Given the description of an element on the screen output the (x, y) to click on. 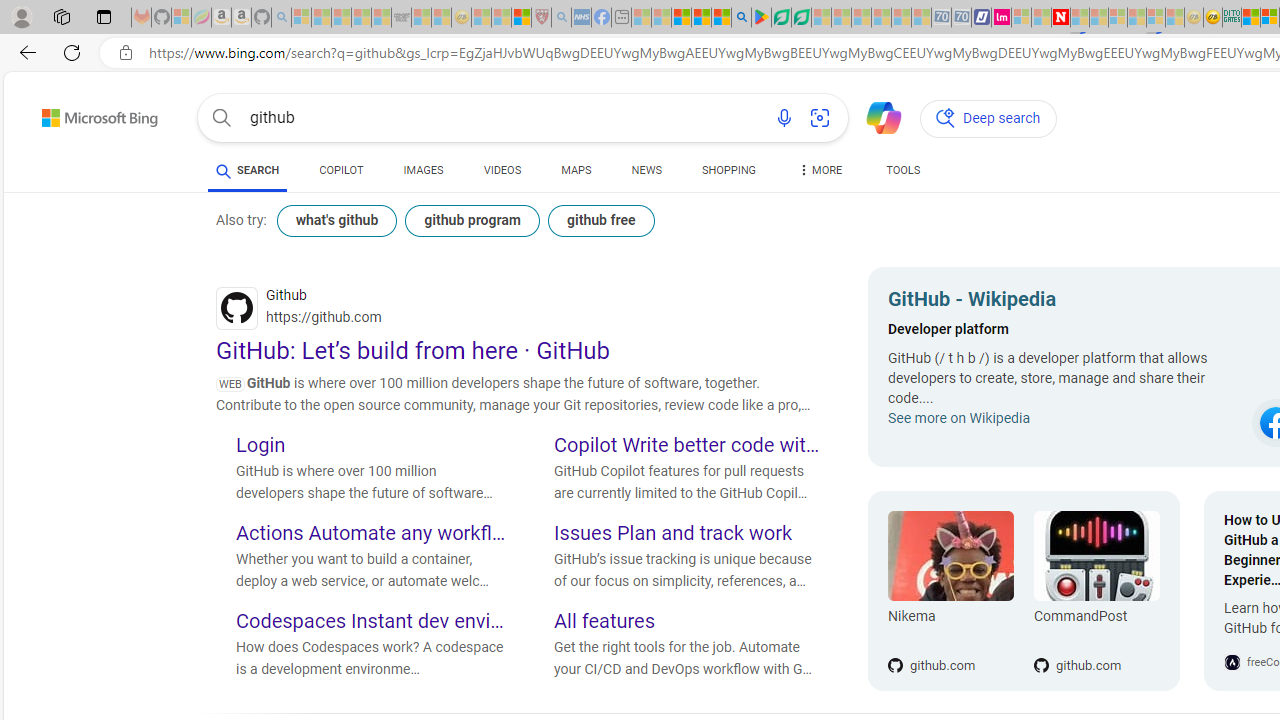
Chat (875, 116)
NEWS (646, 170)
github free (600, 220)
COPILOT (341, 170)
MAPS (576, 170)
CommandPost (1096, 619)
github.com (1096, 632)
